Given the description of an element on the screen output the (x, y) to click on. 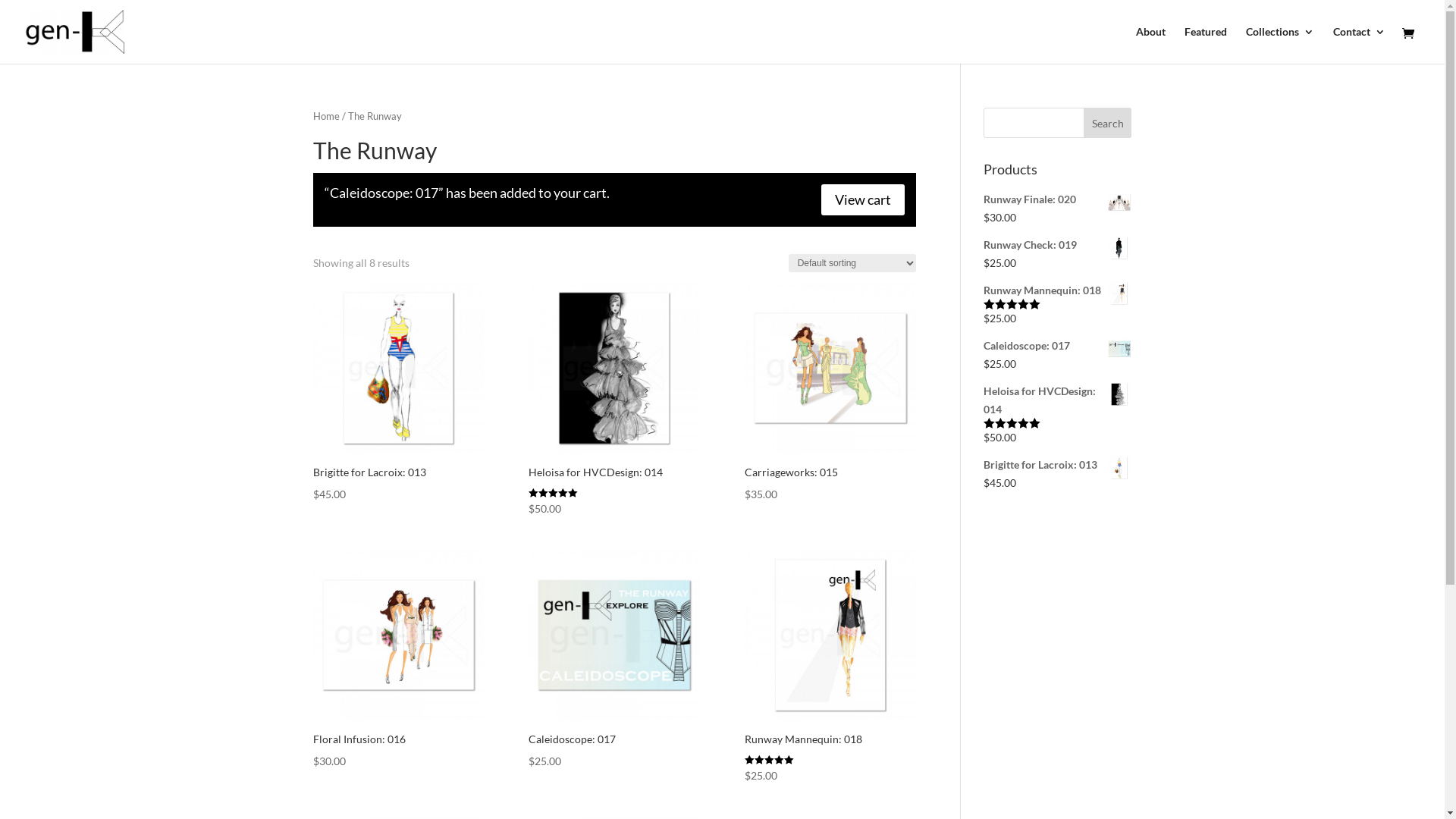
About Element type: text (1150, 44)
Caleidoscope: 017 Element type: text (1057, 345)
Contact Element type: text (1359, 44)
Home Element type: text (325, 115)
Carriageworks: 015
$35.00 Element type: text (829, 392)
Caleidoscope: 017
$25.00 Element type: text (613, 659)
Runway Mannequin: 018 Element type: text (1057, 290)
Heloisa for HVCDesign: 014
Rated
out of 5
$50.00 Element type: text (613, 399)
View cart Element type: text (862, 199)
Collections Element type: text (1279, 44)
Floral Infusion: 016
$30.00 Element type: text (397, 659)
Brigitte for Lacroix: 013 Element type: text (1057, 464)
Brigitte for Lacroix: 013
$45.00 Element type: text (397, 392)
Heloisa for HVCDesign: 014 Element type: text (1057, 400)
Featured Element type: text (1205, 44)
Runway Finale: 020 Element type: text (1057, 199)
Search Element type: text (1107, 122)
Runway Check: 019 Element type: text (1057, 244)
Runway Mannequin: 018
Rated
out of 5
$25.00 Element type: text (829, 666)
